Given the description of an element on the screen output the (x, y) to click on. 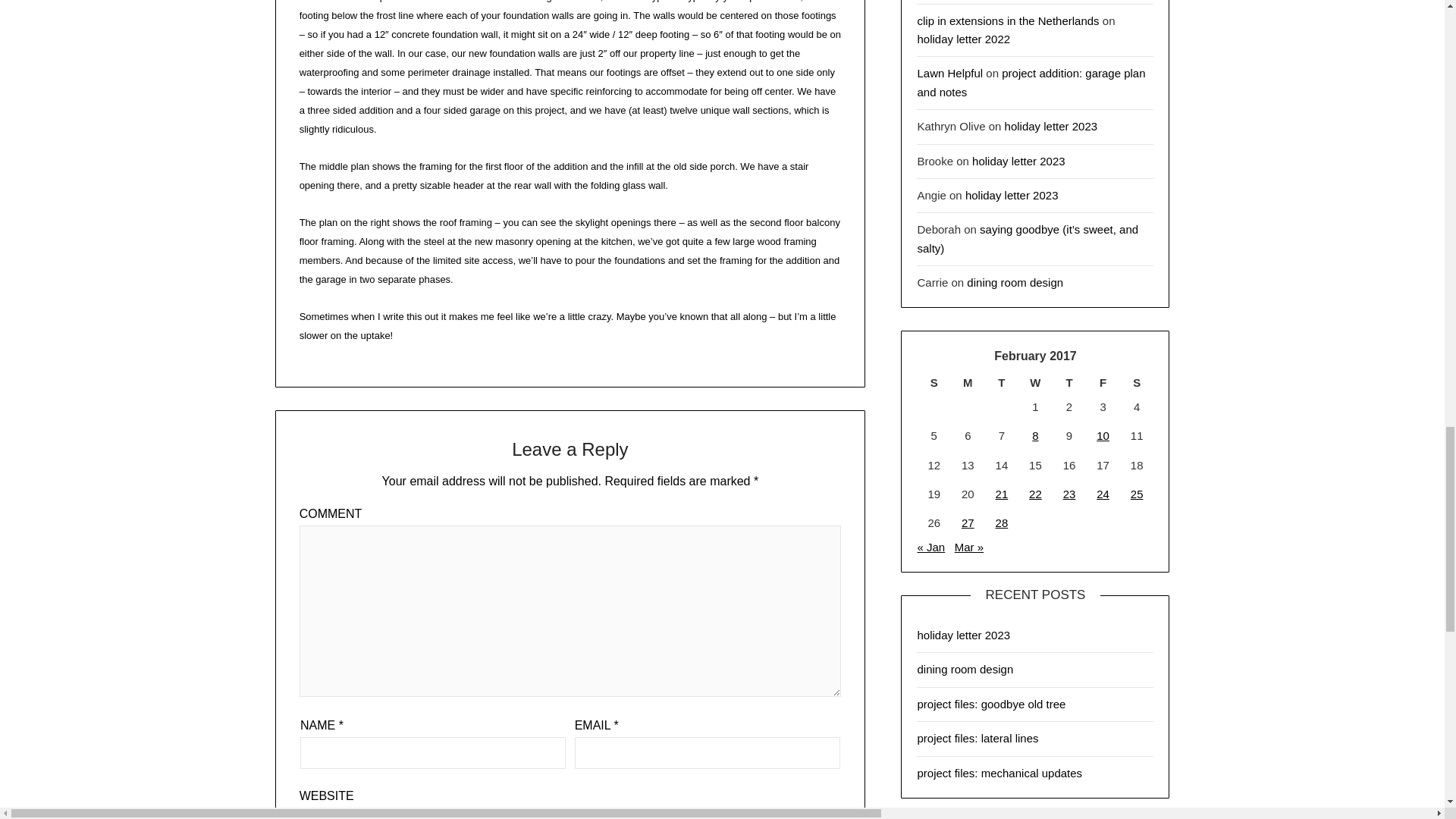
21 (1002, 493)
holiday letter 2022 (963, 38)
Thursday (1069, 382)
24 (1102, 493)
Lawn Helpful (949, 72)
Saturday (1136, 382)
Sunday (933, 382)
Friday (1102, 382)
holiday letter 2023 (1011, 195)
23 (1068, 493)
